Given the description of an element on the screen output the (x, y) to click on. 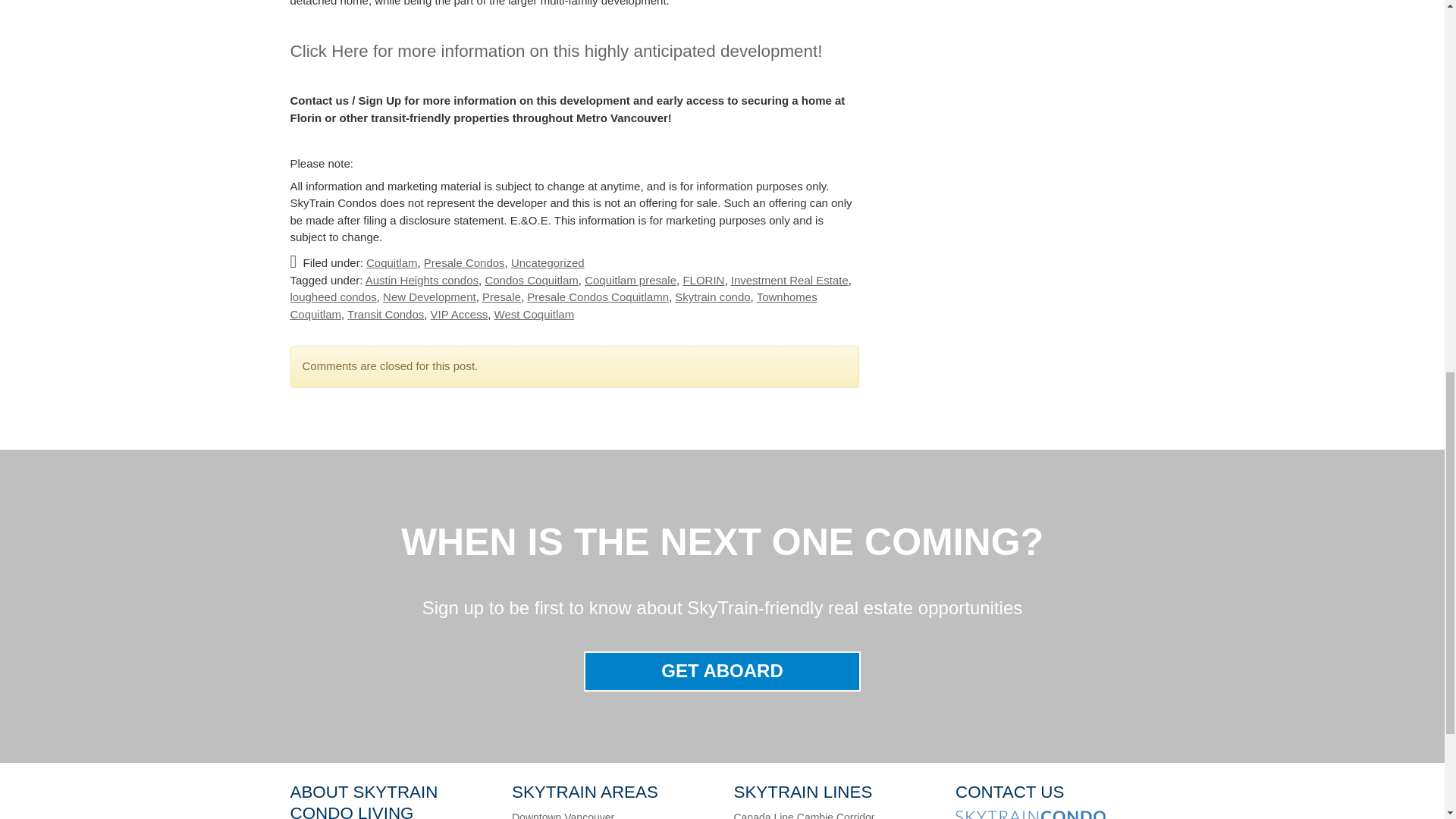
Condos Coquitlam (531, 279)
lougheed condos (332, 296)
Presale (501, 296)
Click Here (328, 50)
New Development (429, 296)
Investment Real Estate (789, 279)
Uncategorized (548, 262)
Coquitlam presale (631, 279)
Austin Heights condos (422, 279)
Coquitlam (391, 262)
